Given the description of an element on the screen output the (x, y) to click on. 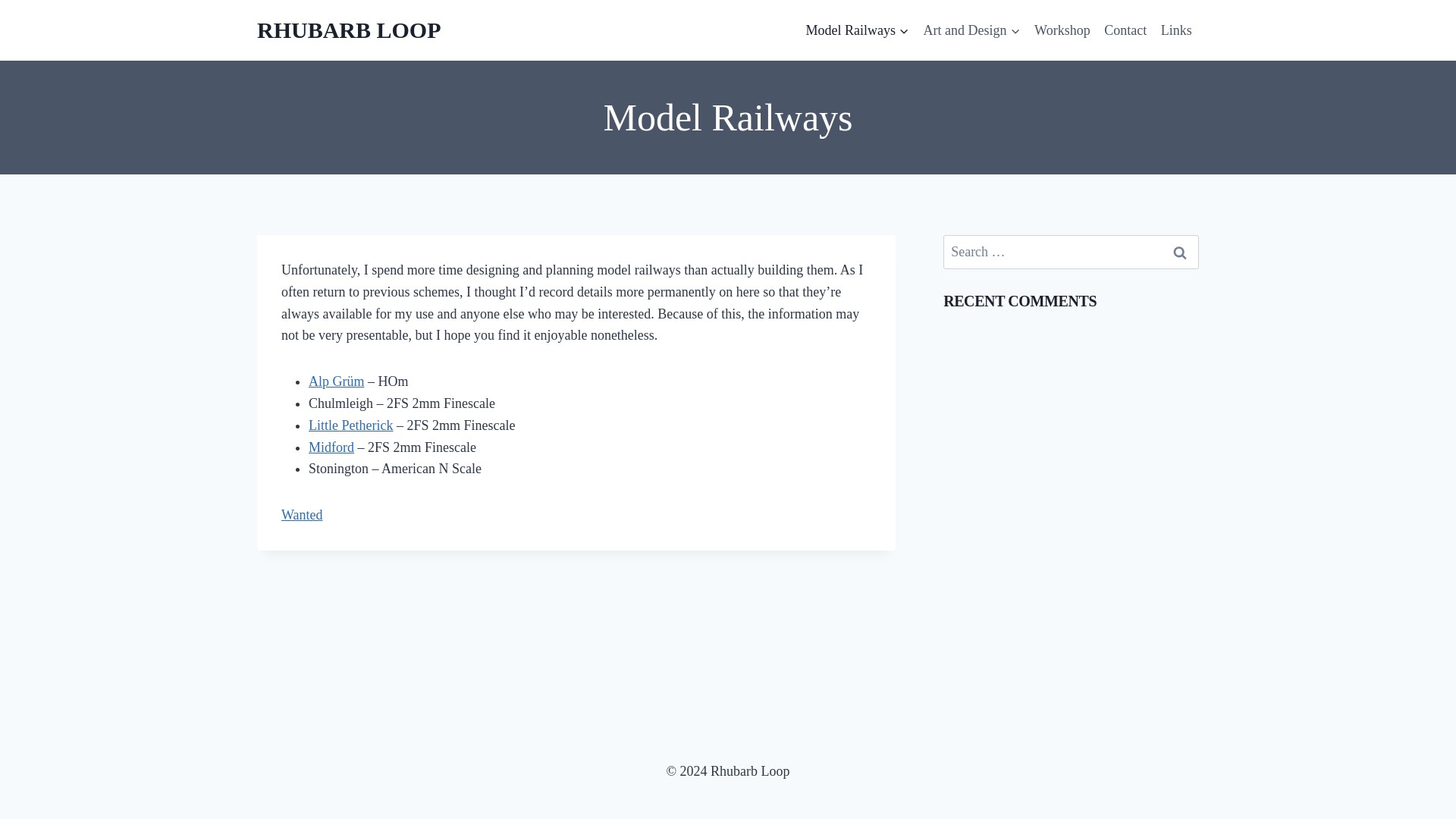
Art and Design (971, 30)
Links (1175, 30)
Workshop (1062, 30)
Search (1179, 252)
Model Railways (856, 30)
Search (1179, 252)
RHUBARB LOOP (349, 30)
Contact (1125, 30)
Little Petherick (350, 425)
